Given the description of an element on the screen output the (x, y) to click on. 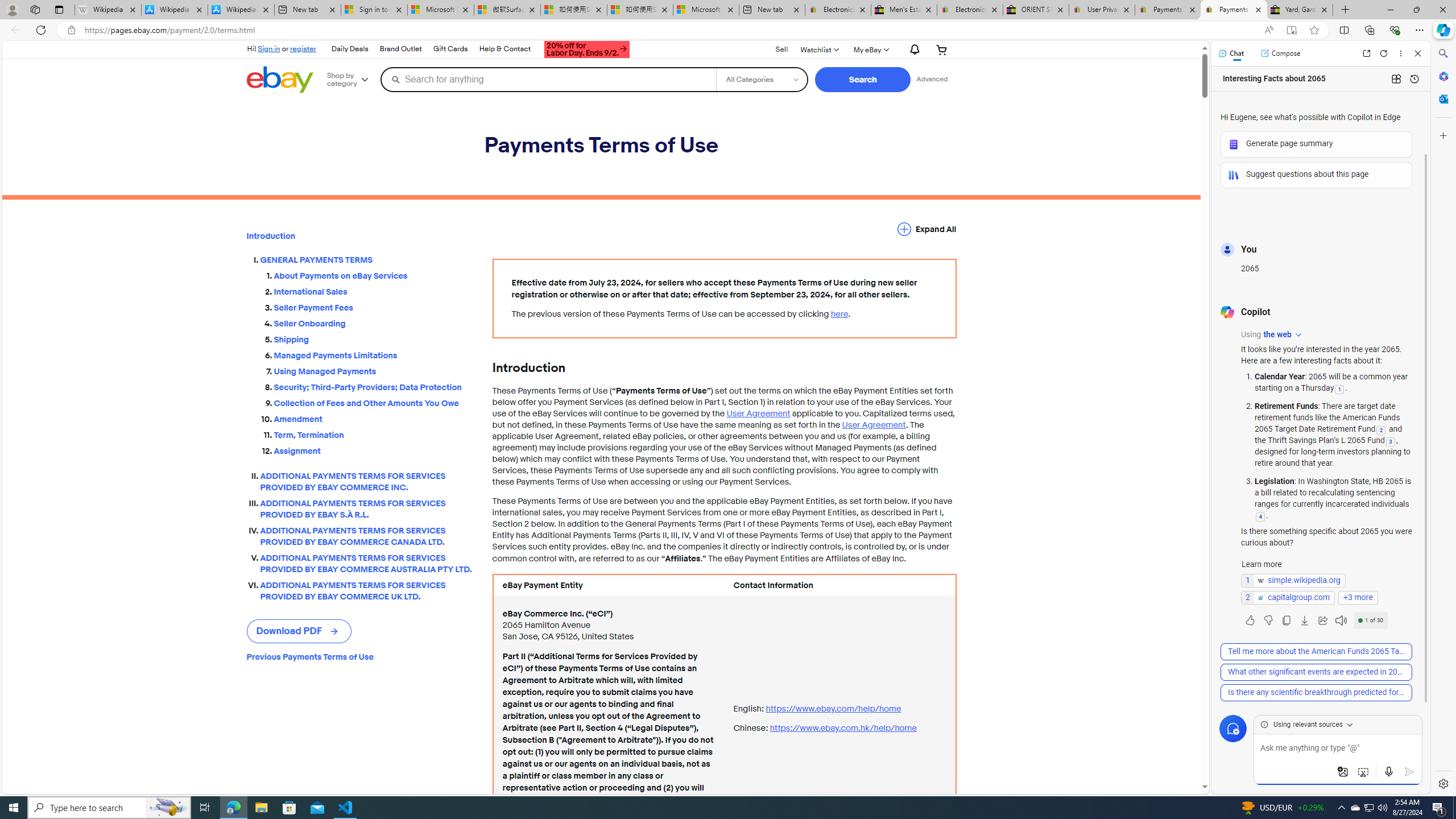
eBay Home (279, 79)
Get the coupon now (587, 50)
My eBayExpand My eBay (870, 49)
Assignment (373, 448)
Chat (1231, 52)
Amendment (373, 419)
Amendment (373, 416)
My eBay (870, 49)
Managed Payments Limitations (373, 355)
Help & Contact (505, 49)
